Given the description of an element on the screen output the (x, y) to click on. 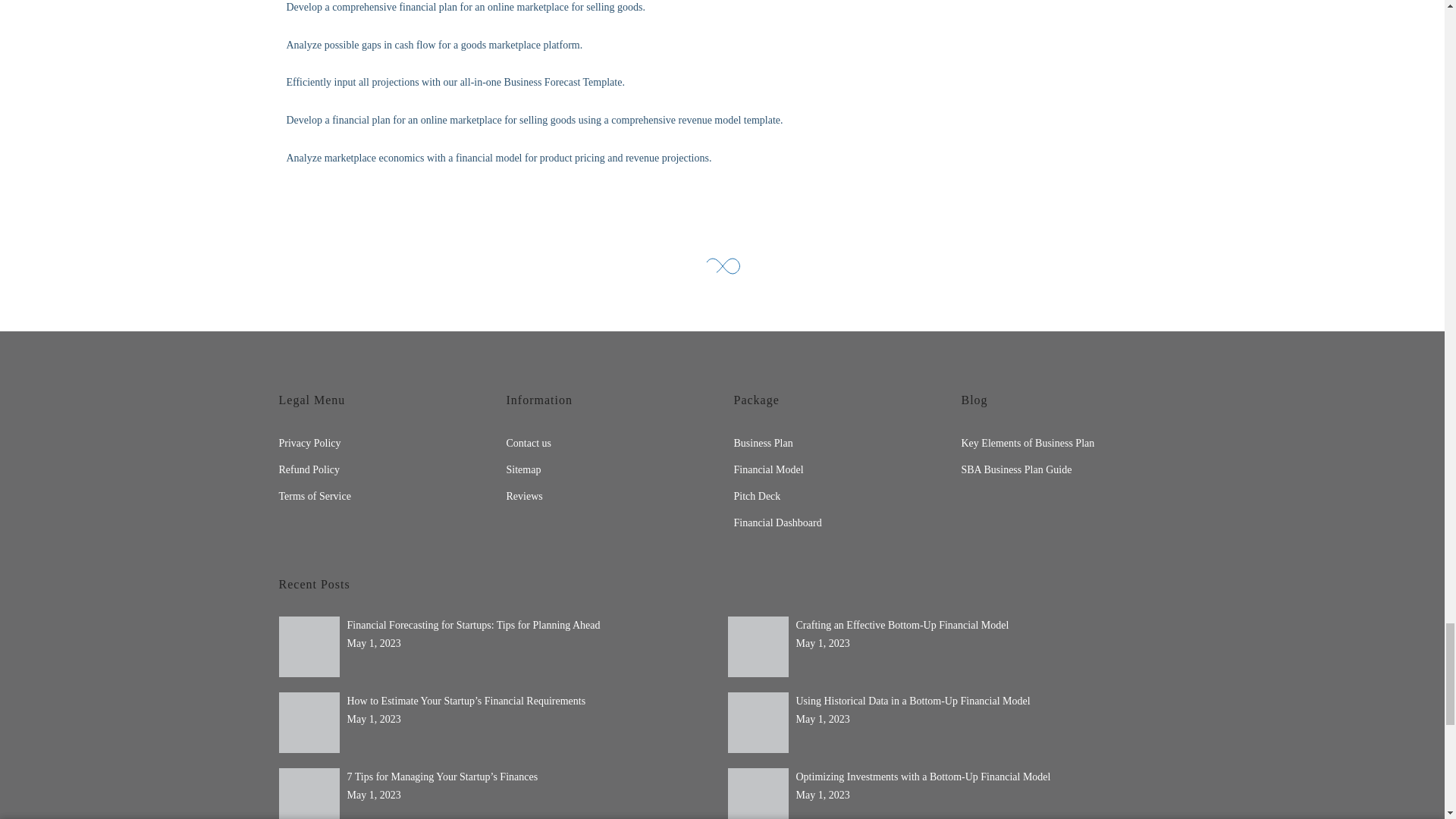
Contact us (528, 442)
Reviews (524, 496)
Refund Policy (309, 469)
Privacy Policy (309, 442)
Sitemap (523, 469)
Terms of Service (314, 496)
